Given the description of an element on the screen output the (x, y) to click on. 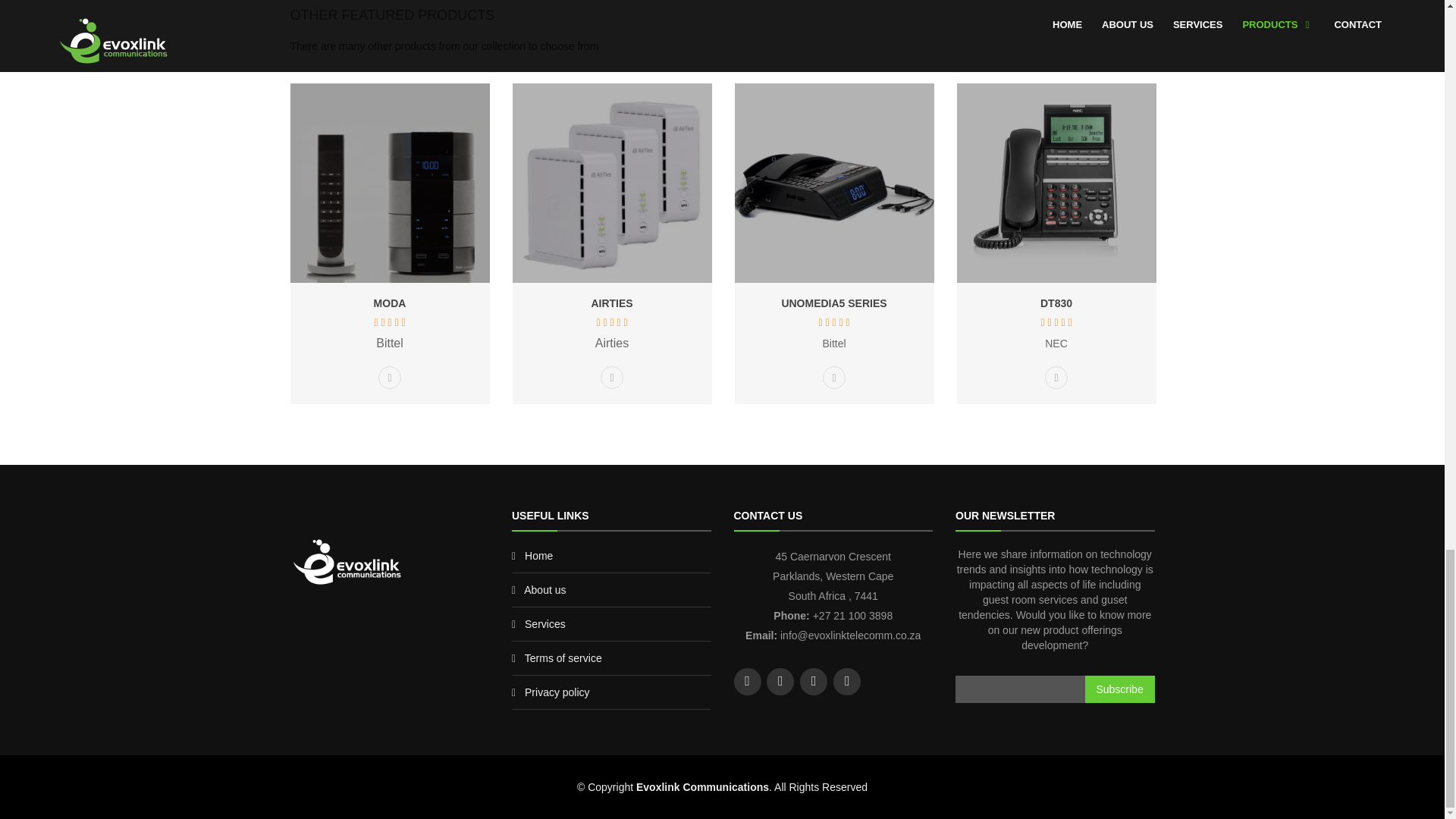
Evoxlink Communications (346, 561)
Subscribe (1119, 688)
